Given the description of an element on the screen output the (x, y) to click on. 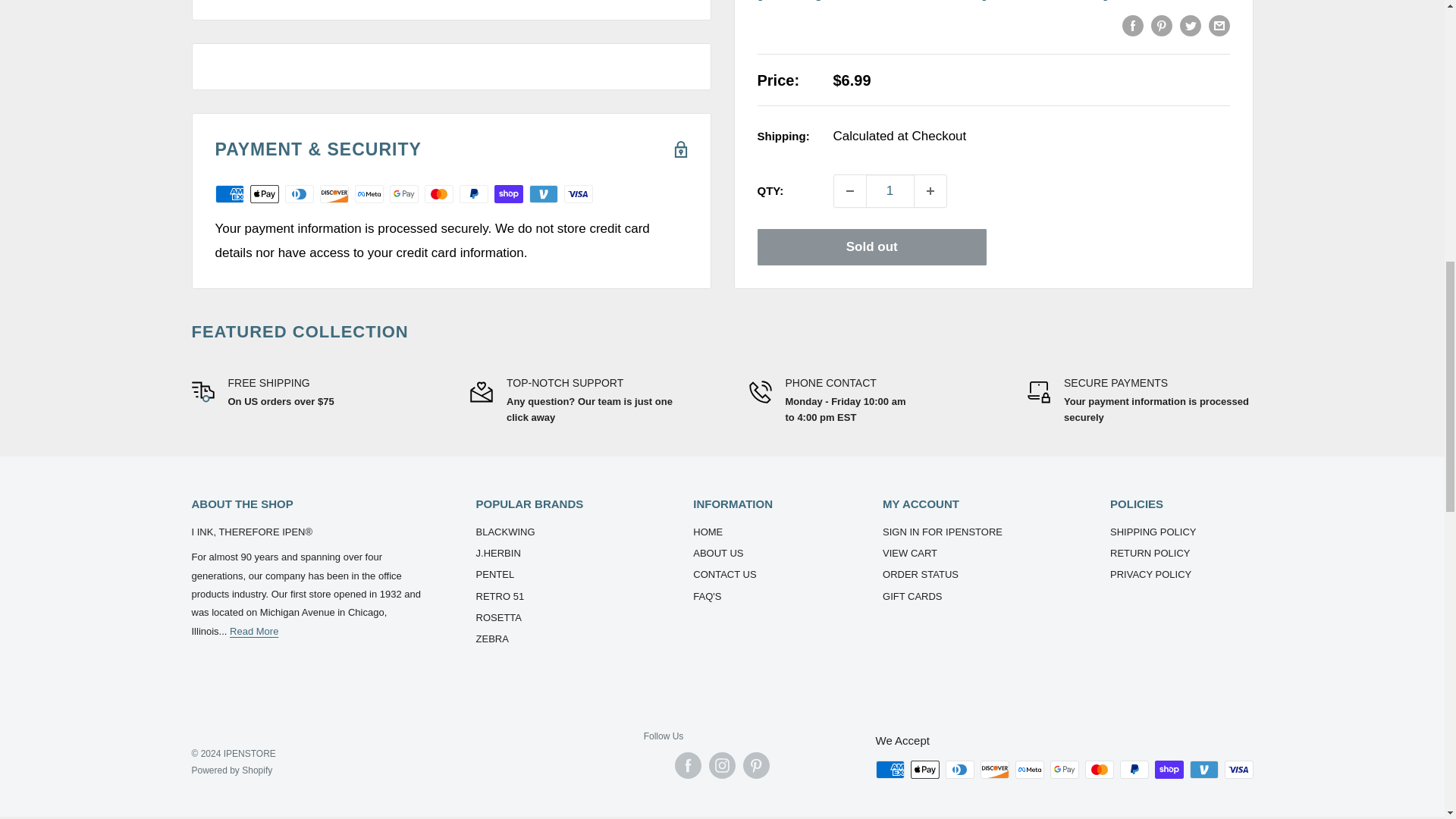
About Us (254, 631)
